Given the description of an element on the screen output the (x, y) to click on. 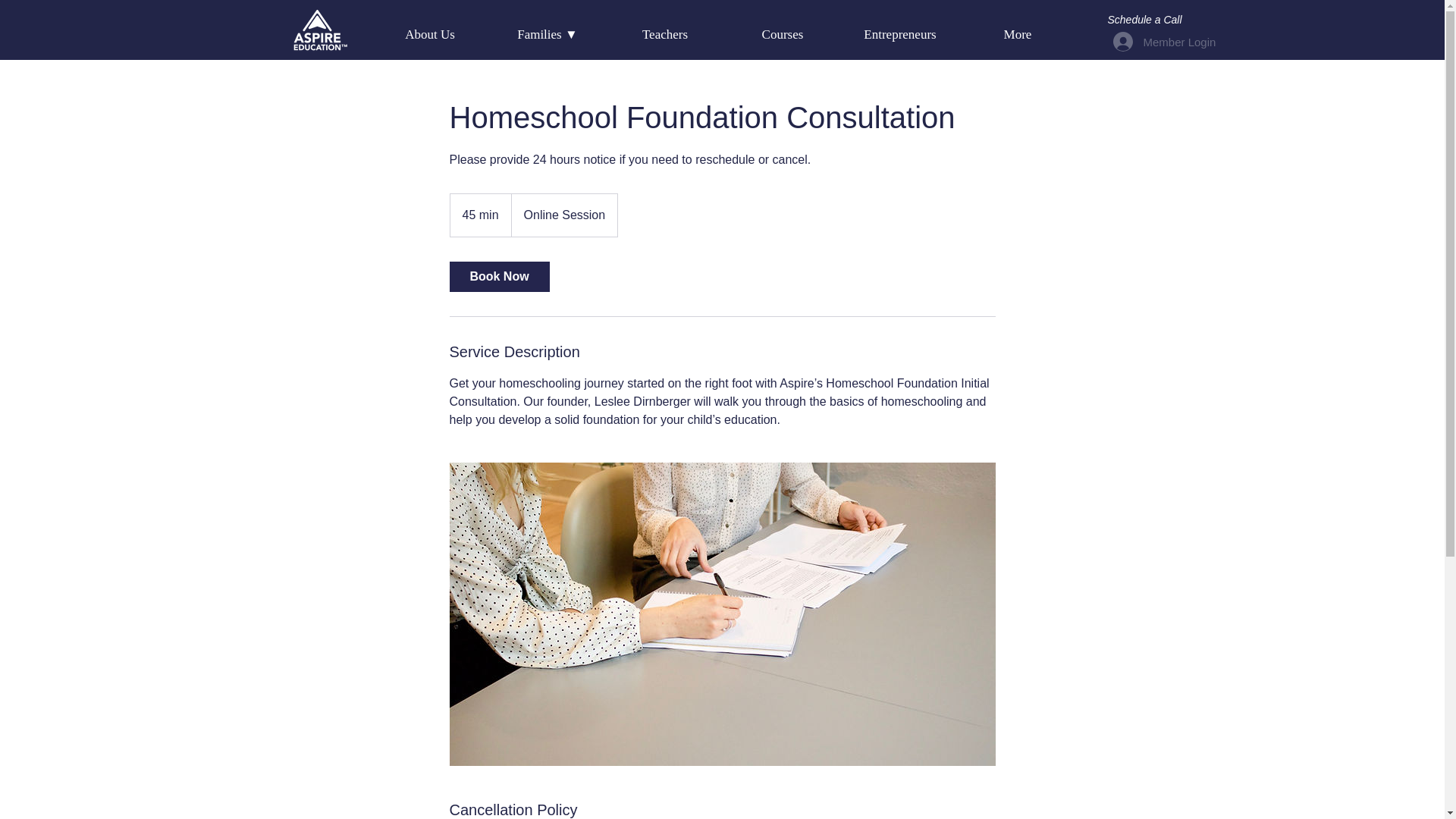
About Us (430, 34)
Book Now (498, 276)
Member Login (1136, 41)
Schedule a Call (1144, 19)
Courses (782, 34)
Teachers (665, 34)
Entrepreneurs (900, 34)
